Given the description of an element on the screen output the (x, y) to click on. 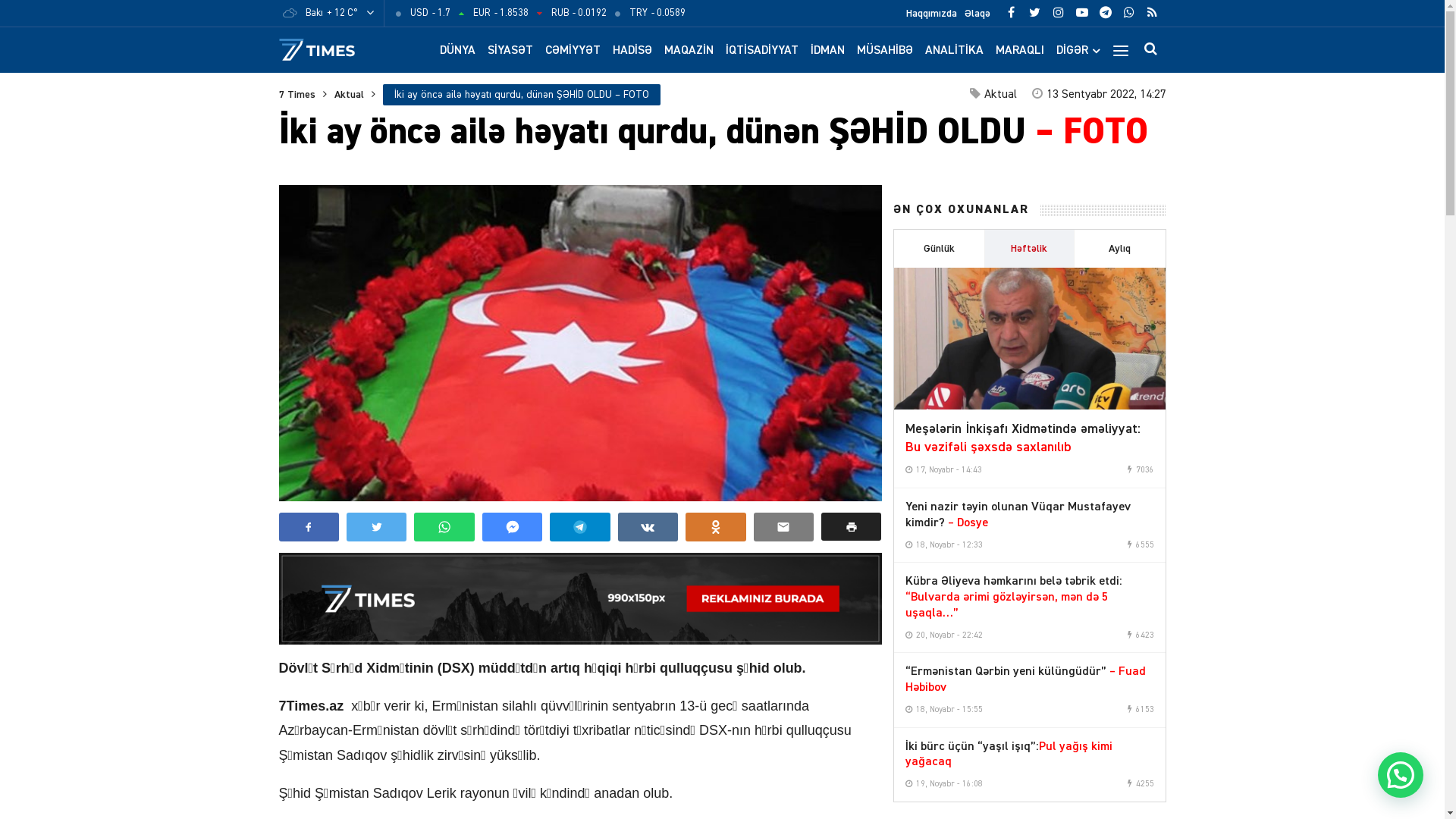
MAQAZIN Element type: text (688, 50)
MARAQLI Element type: text (1018, 50)
ANALITIKA Element type: text (954, 50)
7 Times Element type: text (297, 94)
USD
- 1.7
EUR
- 1.8538
RUB
- 0.0192
TRY
- 0.0589 Element type: text (540, 13)
